Given the description of an element on the screen output the (x, y) to click on. 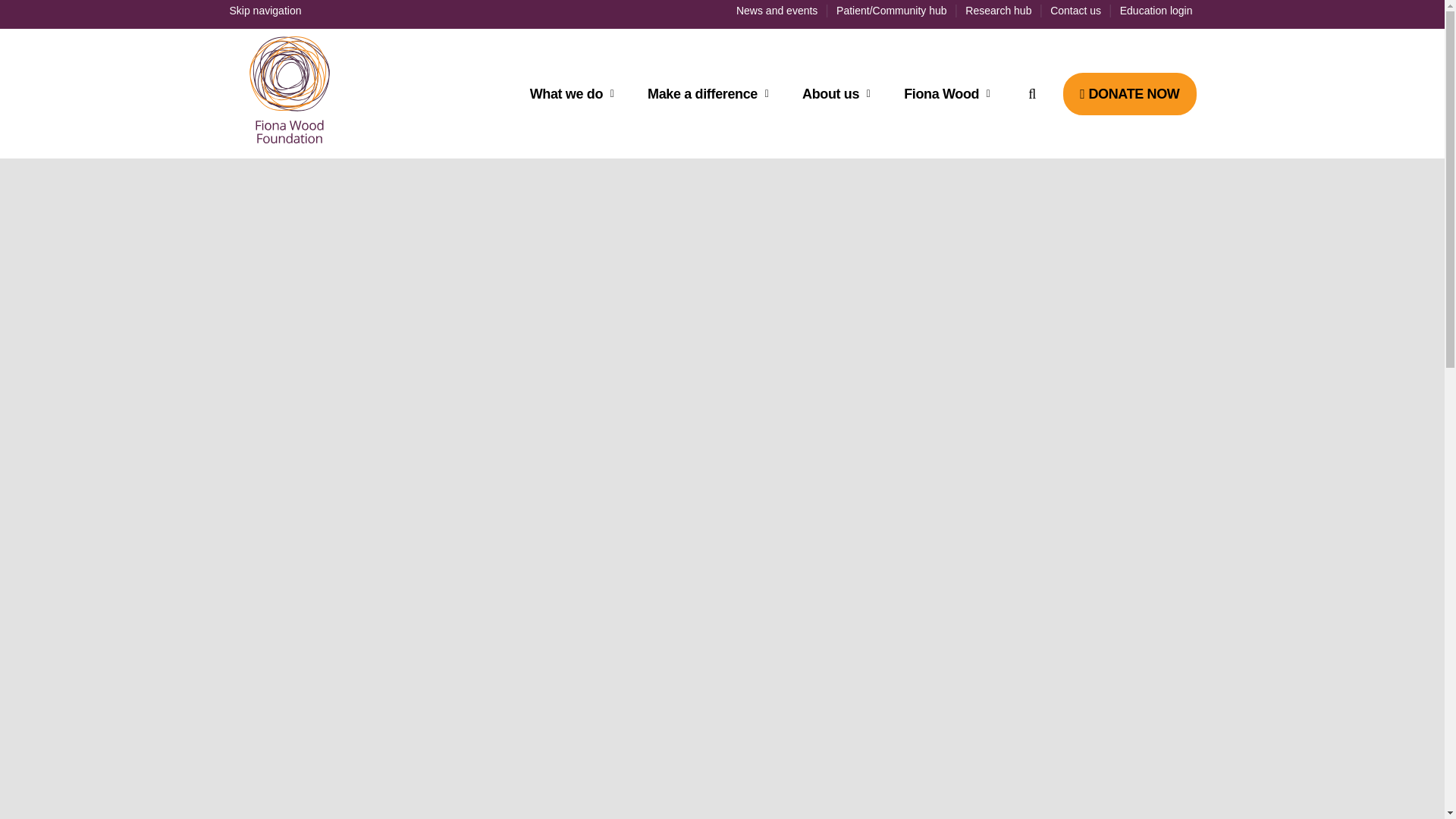
Make a difference (712, 93)
About us (841, 93)
Skip navigation (264, 11)
Education login (1155, 10)
Research hub (997, 10)
Contact us (1074, 10)
What we do (576, 93)
News and events (776, 10)
Fiona Wood (952, 93)
